Given the description of an element on the screen output the (x, y) to click on. 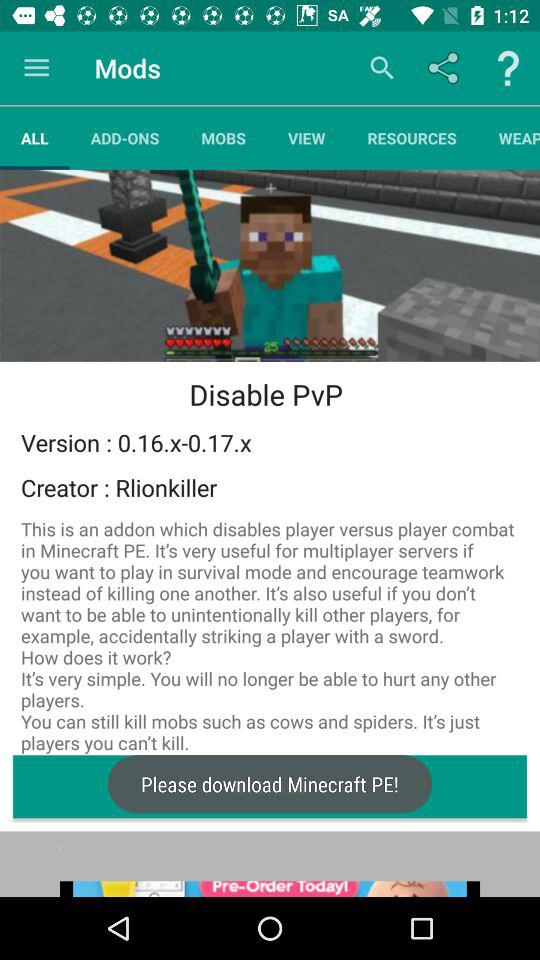
open help menu (508, 67)
